Given the description of an element on the screen output the (x, y) to click on. 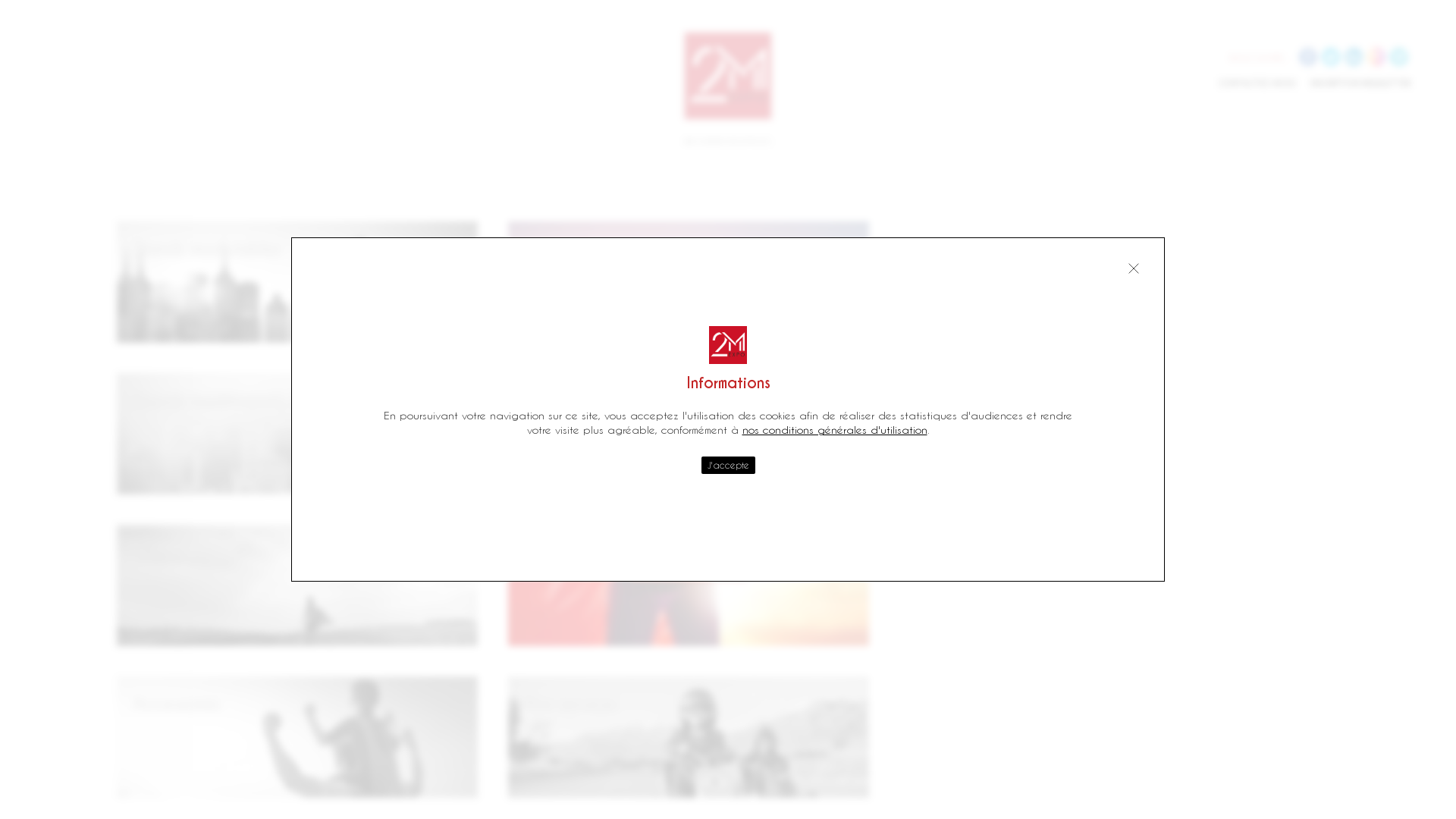
CONTACTEZ-NOUS Element type: text (1256, 83)
Stands portables Element type: text (197, 550)
Stands traditionnels et Agencement Element type: text (268, 398)
CONTACTEZ-NOUS Element type: text (688, 565)
INSCRIPTION NEWSLETTER Element type: text (1360, 83)
J'accepte Element type: text (727, 465)
Nos services Element type: text (569, 702)
Stands modulables Element type: text (205, 247)
Accessoires Element type: text (175, 702)
